Given the description of an element on the screen output the (x, y) to click on. 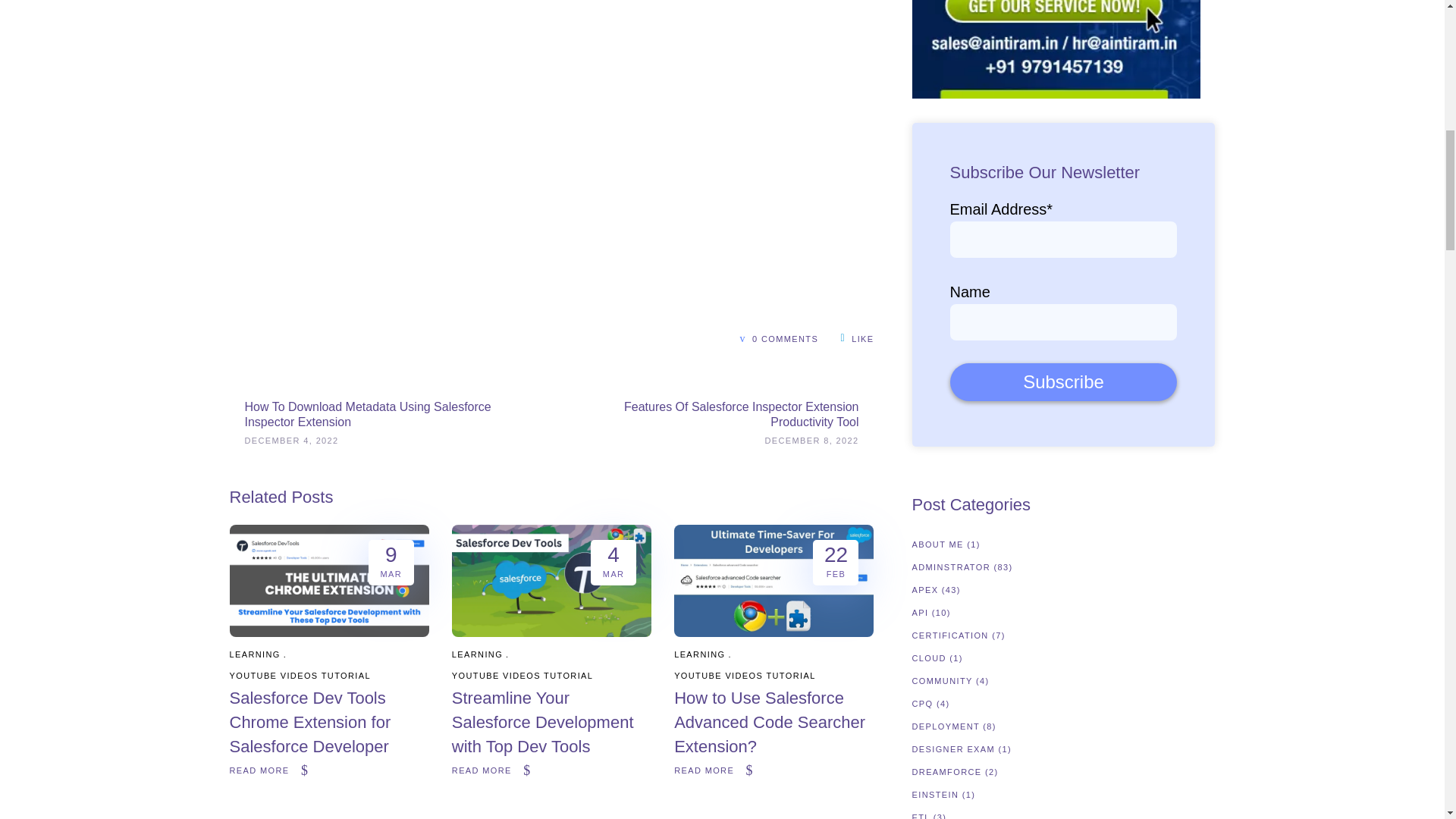
How to Use Salesforce Advanced Code Searcher Extension? (769, 721)
Streamline Your Salesforce Development with Top Dev Tools (550, 632)
Subscribe (1062, 382)
Streamline Your Salesforce Development with Top Dev Tools (542, 721)
Like this (858, 337)
How to Use Salesforce Advanced Code Searcher Extension? (773, 632)
